Given the description of an element on the screen output the (x, y) to click on. 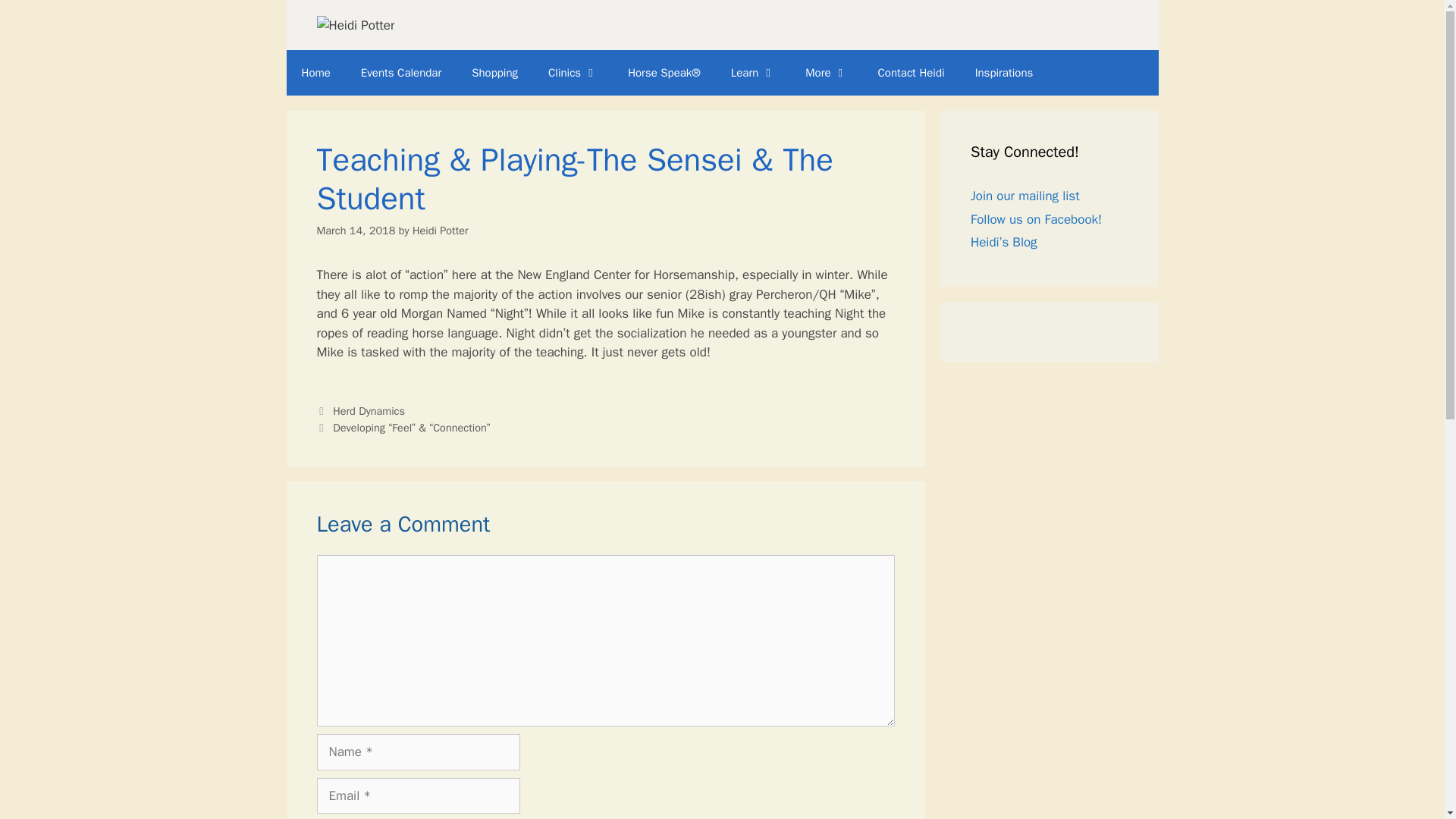
Shopping (494, 72)
Home (316, 72)
Learn (753, 72)
View all posts by Heidi Potter (440, 230)
Herd Dynamics (368, 410)
Contact Heidi (911, 72)
Events Calendar (401, 72)
Heidi Potter (440, 230)
More (825, 72)
Join our mailing list (1025, 195)
